Given the description of an element on the screen output the (x, y) to click on. 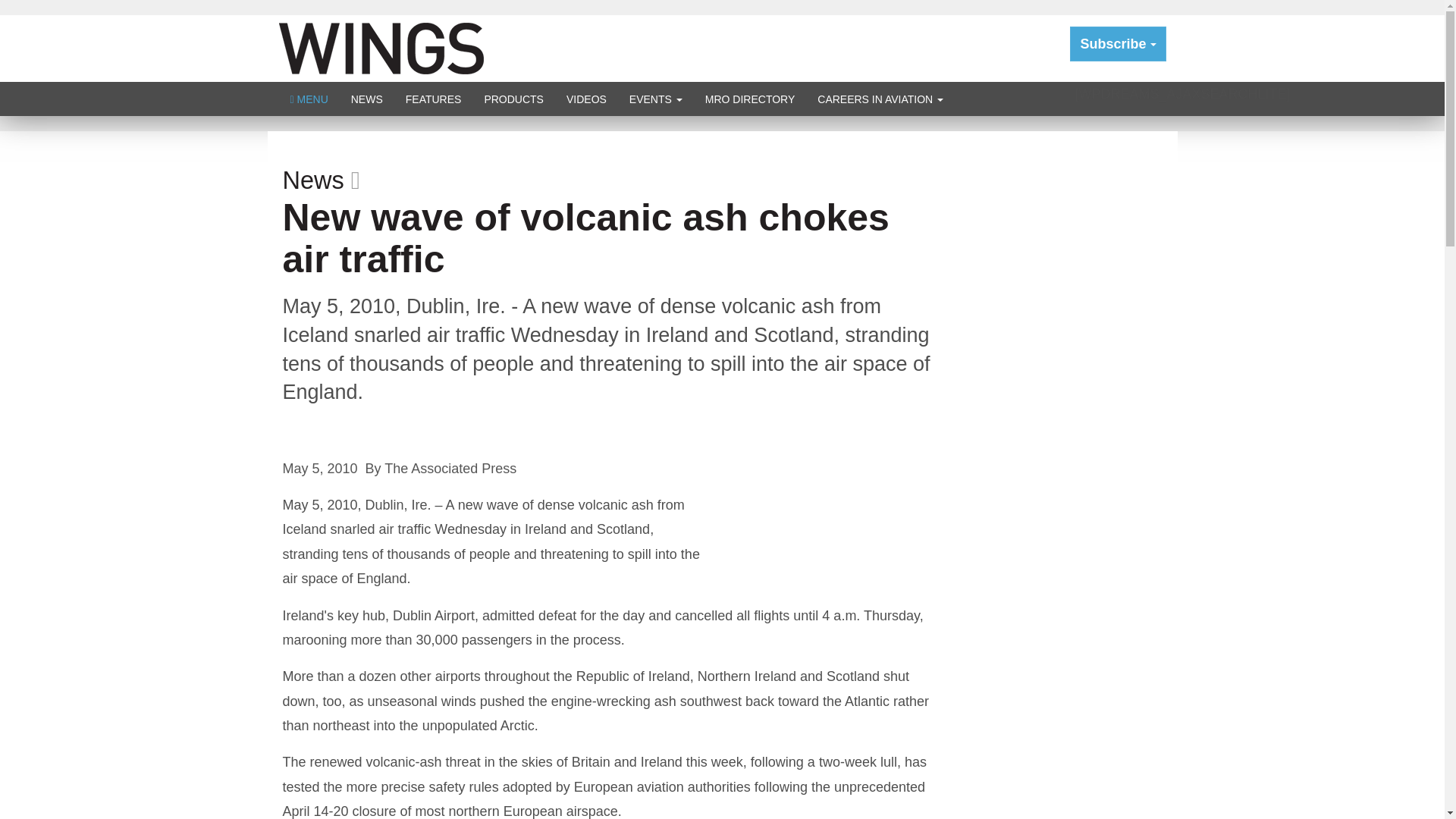
VIDEOS (585, 98)
Click to show site navigation (309, 98)
MENU (309, 98)
CAREERS IN AVIATION (880, 98)
PRODUCTS (512, 98)
FEATURES (433, 98)
MRO DIRECTORY (750, 98)
Subscribe (1118, 43)
EVENTS (655, 98)
Wings Magazine (381, 47)
